Given the description of an element on the screen output the (x, y) to click on. 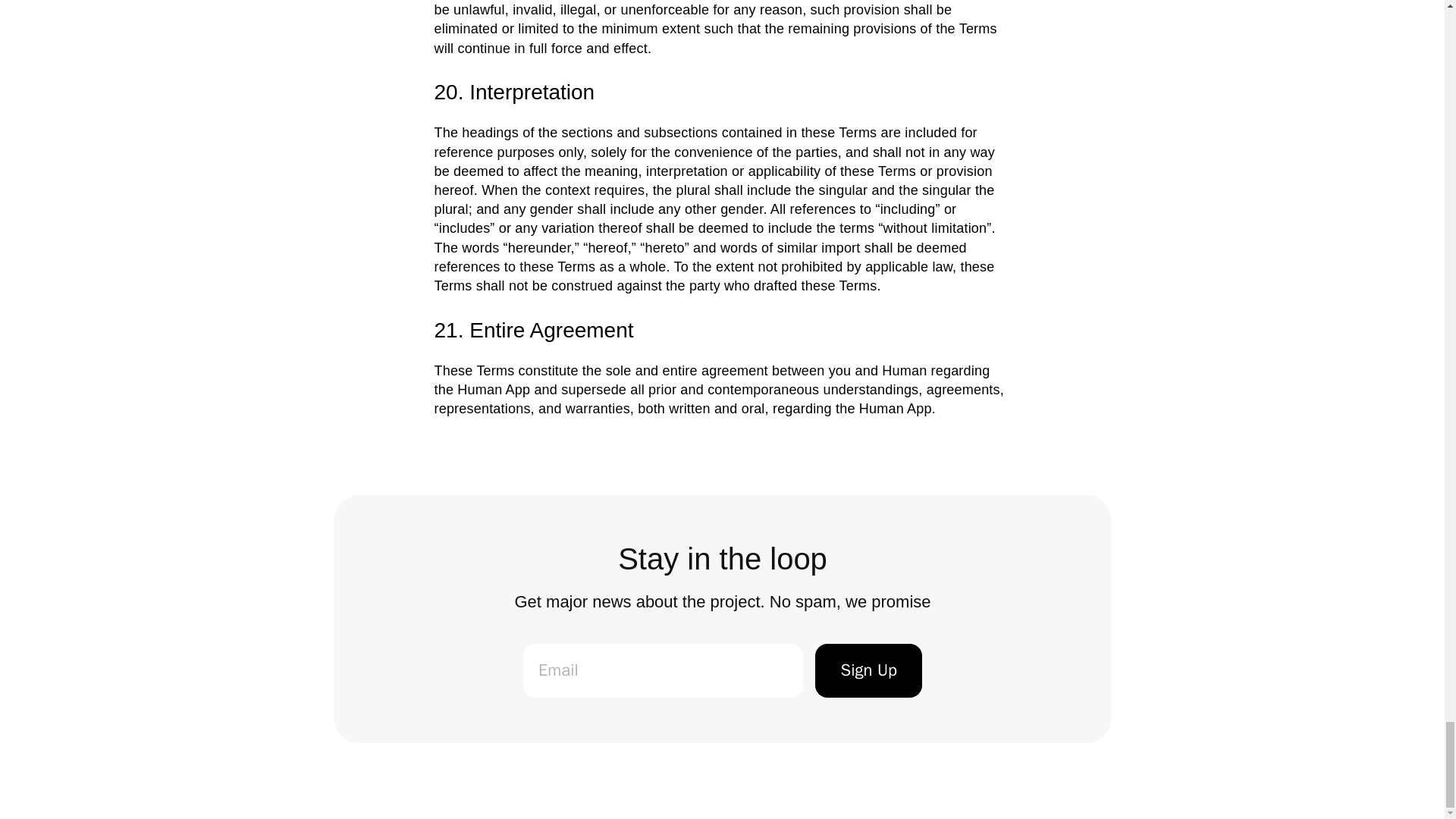
  Sign Up   (868, 670)
  Sign Up   (868, 670)
